Given the description of an element on the screen output the (x, y) to click on. 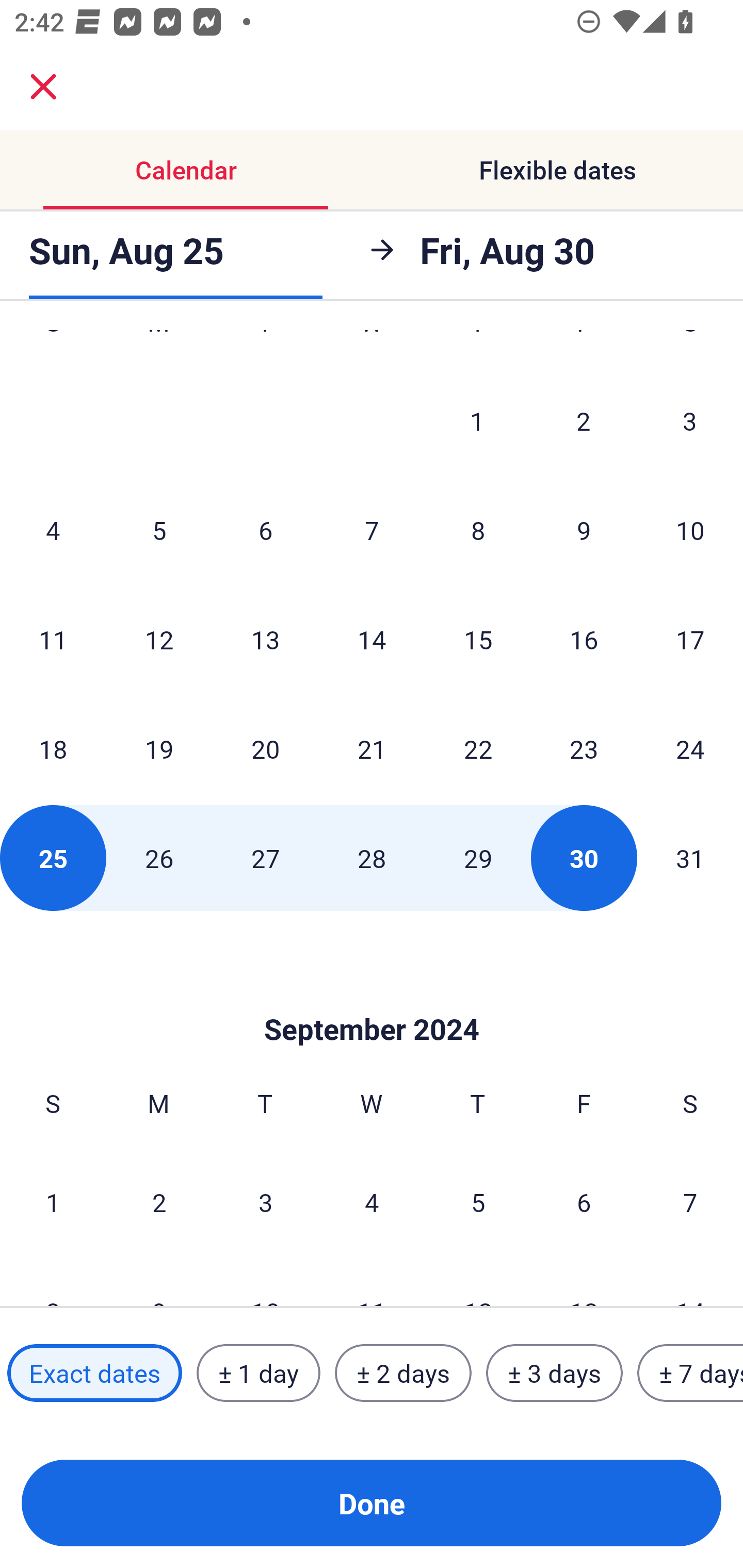
close. (43, 86)
Flexible dates (557, 170)
1 Thursday, August 1, 2024 (477, 420)
2 Friday, August 2, 2024 (583, 420)
3 Saturday, August 3, 2024 (689, 420)
4 Sunday, August 4, 2024 (53, 529)
5 Monday, August 5, 2024 (159, 529)
6 Tuesday, August 6, 2024 (265, 529)
7 Wednesday, August 7, 2024 (371, 529)
8 Thursday, August 8, 2024 (477, 529)
9 Friday, August 9, 2024 (584, 529)
10 Saturday, August 10, 2024 (690, 529)
11 Sunday, August 11, 2024 (53, 638)
12 Monday, August 12, 2024 (159, 638)
13 Tuesday, August 13, 2024 (265, 638)
14 Wednesday, August 14, 2024 (371, 638)
15 Thursday, August 15, 2024 (477, 638)
16 Friday, August 16, 2024 (584, 638)
17 Saturday, August 17, 2024 (690, 638)
18 Sunday, August 18, 2024 (53, 748)
19 Monday, August 19, 2024 (159, 748)
20 Tuesday, August 20, 2024 (265, 748)
21 Wednesday, August 21, 2024 (371, 748)
22 Thursday, August 22, 2024 (477, 748)
23 Friday, August 23, 2024 (584, 748)
24 Saturday, August 24, 2024 (690, 748)
31 Saturday, August 31, 2024 (690, 857)
Skip to Done (371, 997)
1 Sunday, September 1, 2024 (53, 1201)
2 Monday, September 2, 2024 (159, 1201)
3 Tuesday, September 3, 2024 (265, 1201)
4 Wednesday, September 4, 2024 (371, 1201)
5 Thursday, September 5, 2024 (477, 1201)
6 Friday, September 6, 2024 (584, 1201)
7 Saturday, September 7, 2024 (690, 1201)
Exact dates (94, 1372)
± 1 day (258, 1372)
± 2 days (403, 1372)
± 3 days (553, 1372)
± 7 days (690, 1372)
Done (371, 1502)
